Given the description of an element on the screen output the (x, y) to click on. 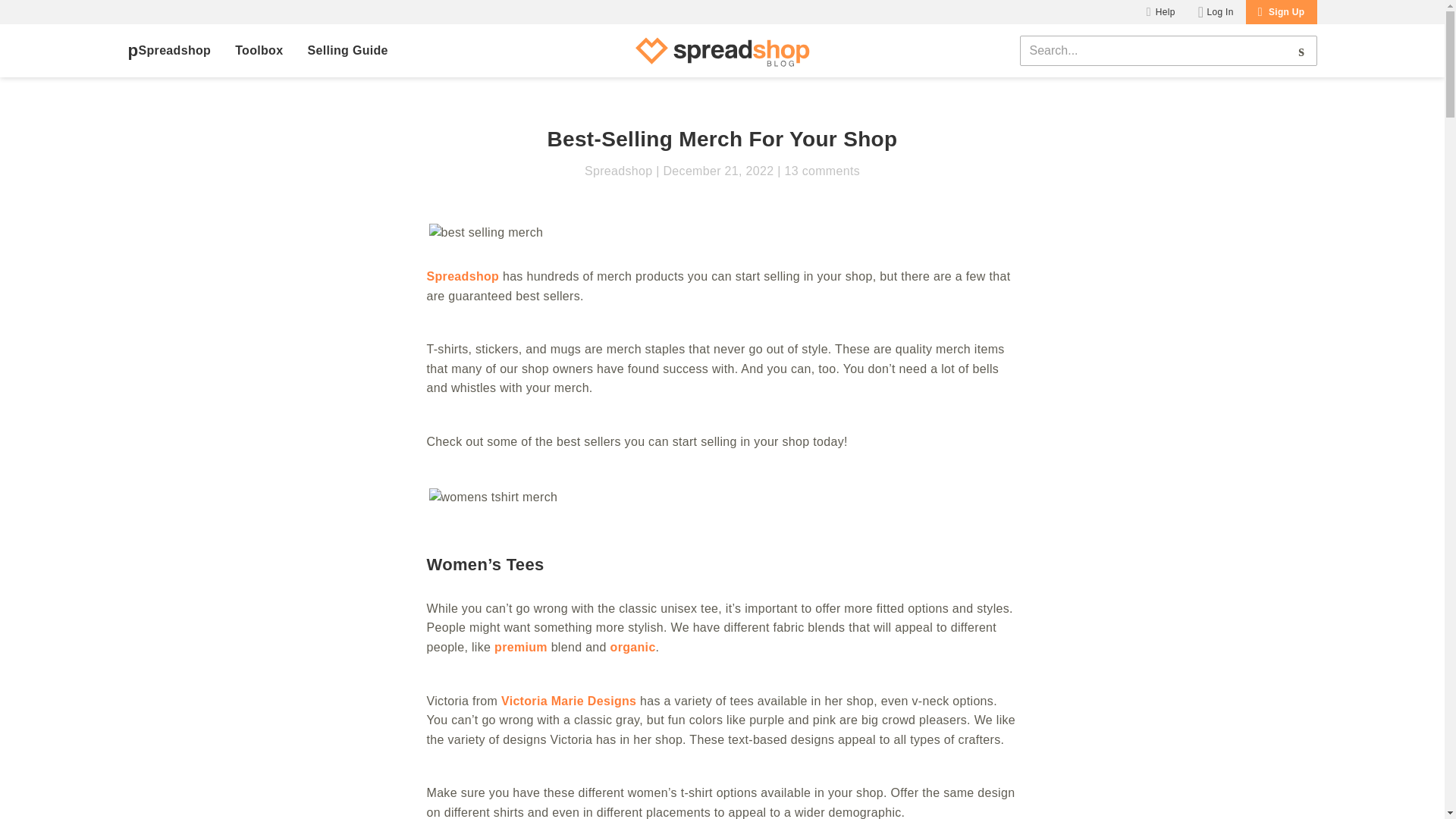
Help (1161, 12)
Victoria Marie Designs (568, 700)
Toolbox (258, 50)
13 comments (818, 170)
Spreadshop (169, 50)
Spreadshop (462, 276)
Sign Up (1281, 12)
Selling Guide (347, 50)
Log In (1217, 12)
organic (633, 646)
premium (521, 646)
